Given the description of an element on the screen output the (x, y) to click on. 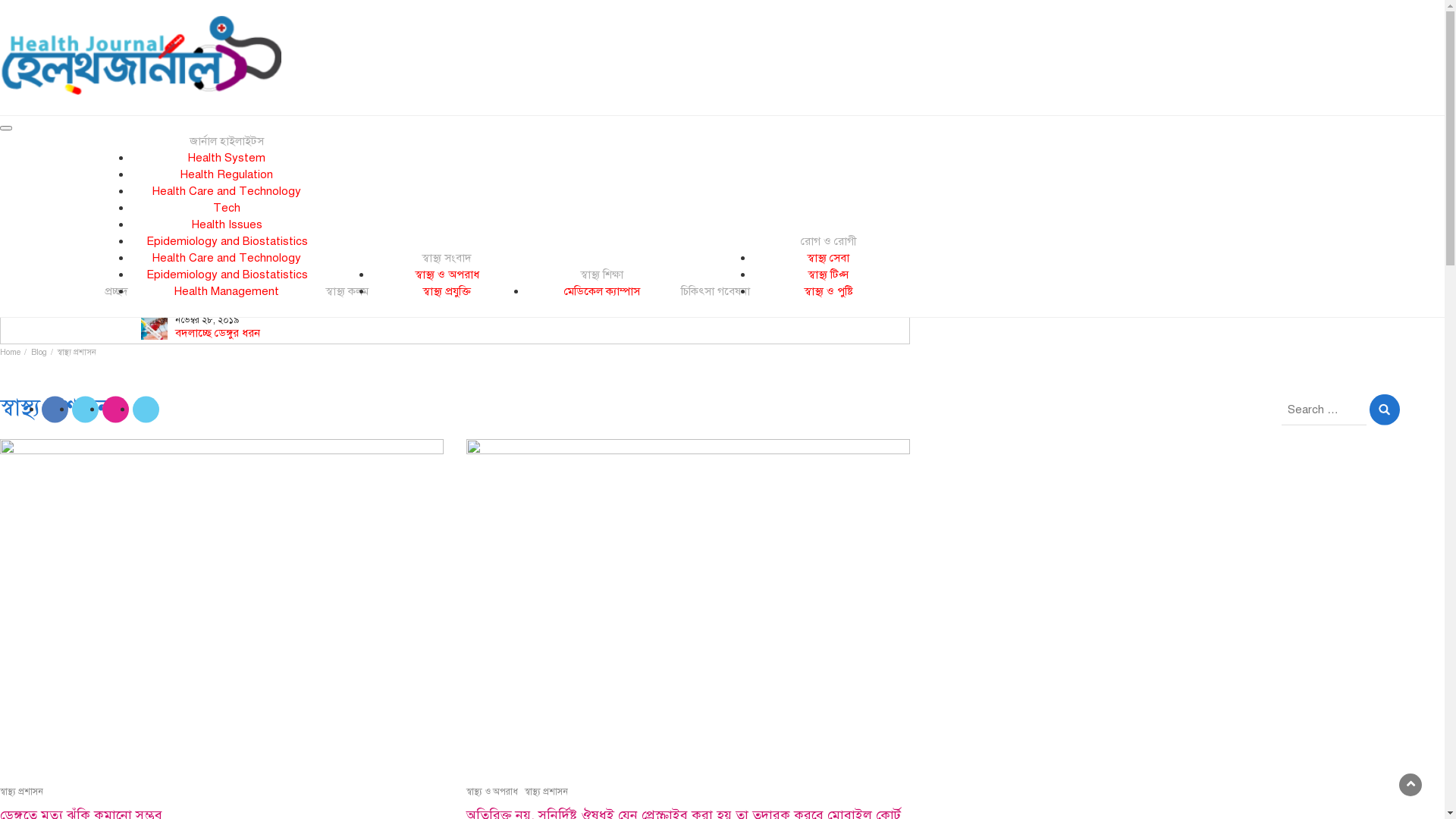
Epidemiology and Biostatistics Element type: text (226, 274)
Epidemiology and Biostatistics Element type: text (226, 240)
Health Care and Technology Element type: text (226, 257)
Search Element type: text (1384, 409)
Health Regulation Element type: text (226, 174)
Search for: Element type: hover (1323, 410)
Blog Element type: text (39, 352)
Health Management Element type: text (226, 290)
Tech Element type: text (226, 207)
Health Care and Technology Element type: text (226, 190)
Health Issues Element type: text (225, 224)
Home Element type: text (10, 352)
Health System Element type: text (226, 157)
Toggle navigation Element type: text (6, 127)
